Given the description of an element on the screen output the (x, y) to click on. 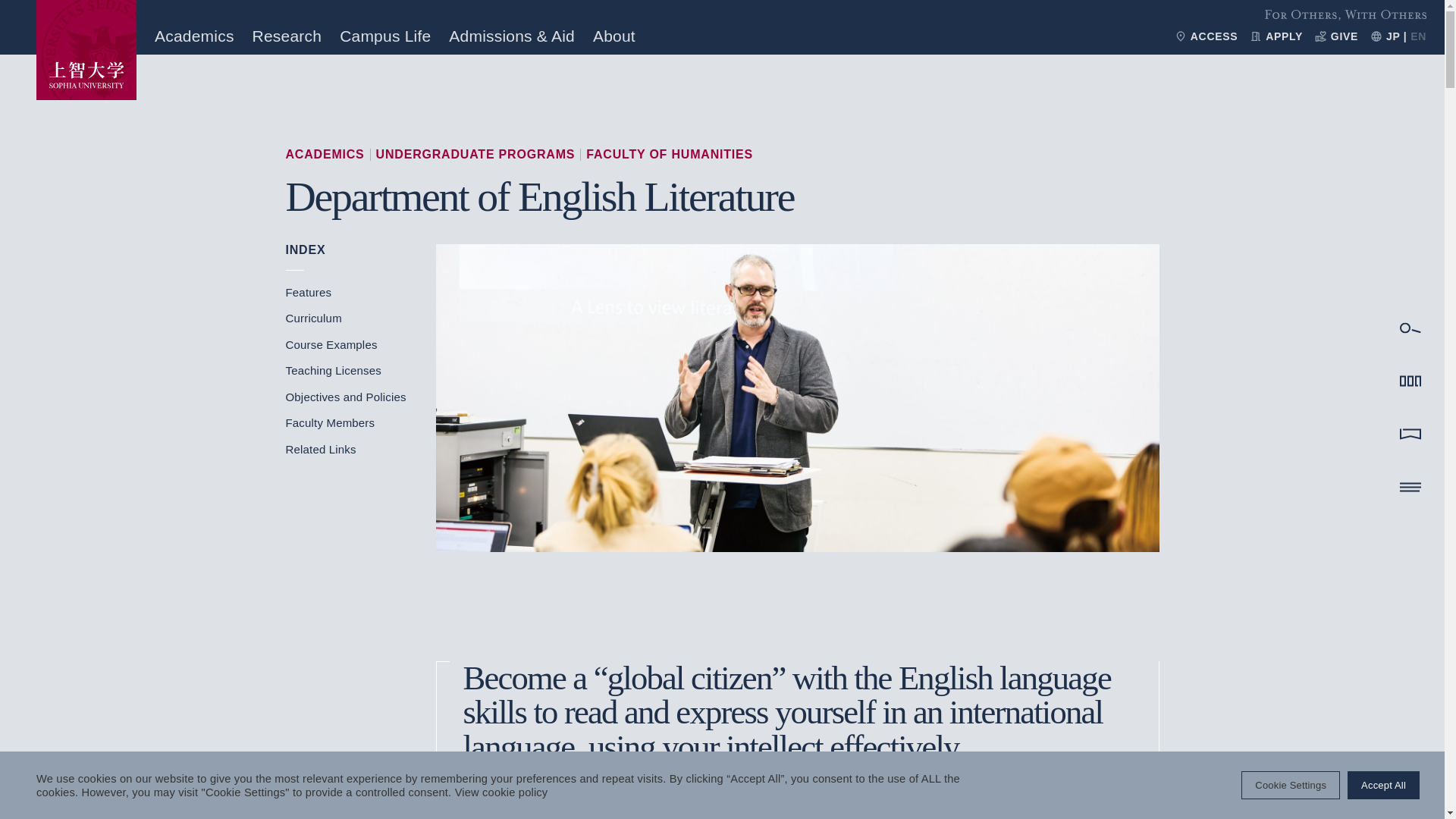
Curriculum (312, 318)
Course Examples (331, 344)
Research (286, 35)
Features (308, 291)
APPLY (1276, 36)
Teaching Licenses (332, 369)
GIVE (1336, 36)
ACADEMICS (324, 154)
About (613, 35)
Related Links (320, 449)
EN (1418, 36)
Faculty Members (329, 422)
ACCESS (1205, 36)
FACULTY OF HUMANITIES (669, 154)
Academics (194, 35)
